Given the description of an element on the screen output the (x, y) to click on. 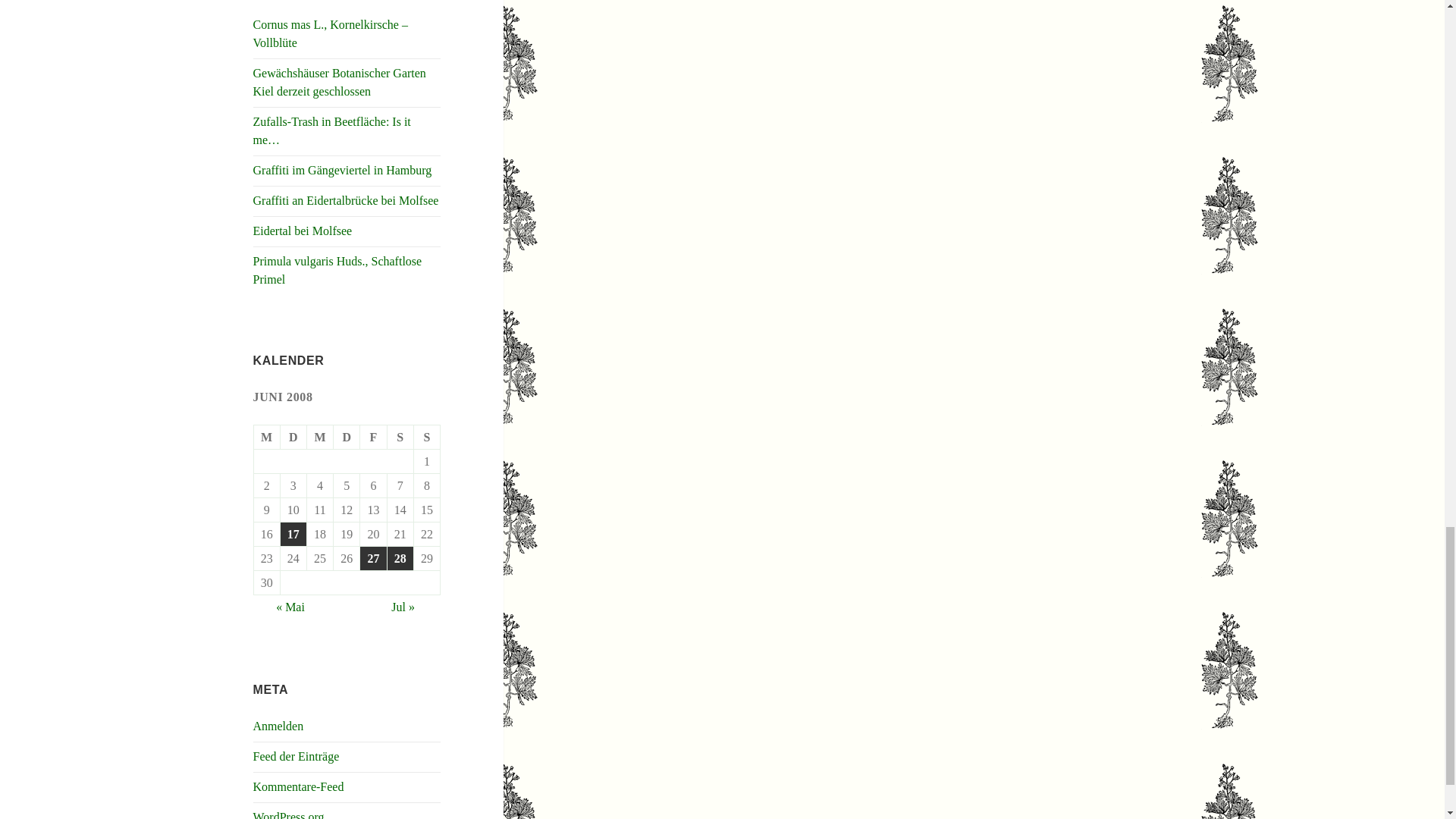
Samstag (400, 437)
Sonntag (427, 437)
Freitag (373, 437)
Mittwoch (320, 437)
Montag (267, 437)
Dienstag (294, 437)
Donnerstag (346, 437)
